Given the description of an element on the screen output the (x, y) to click on. 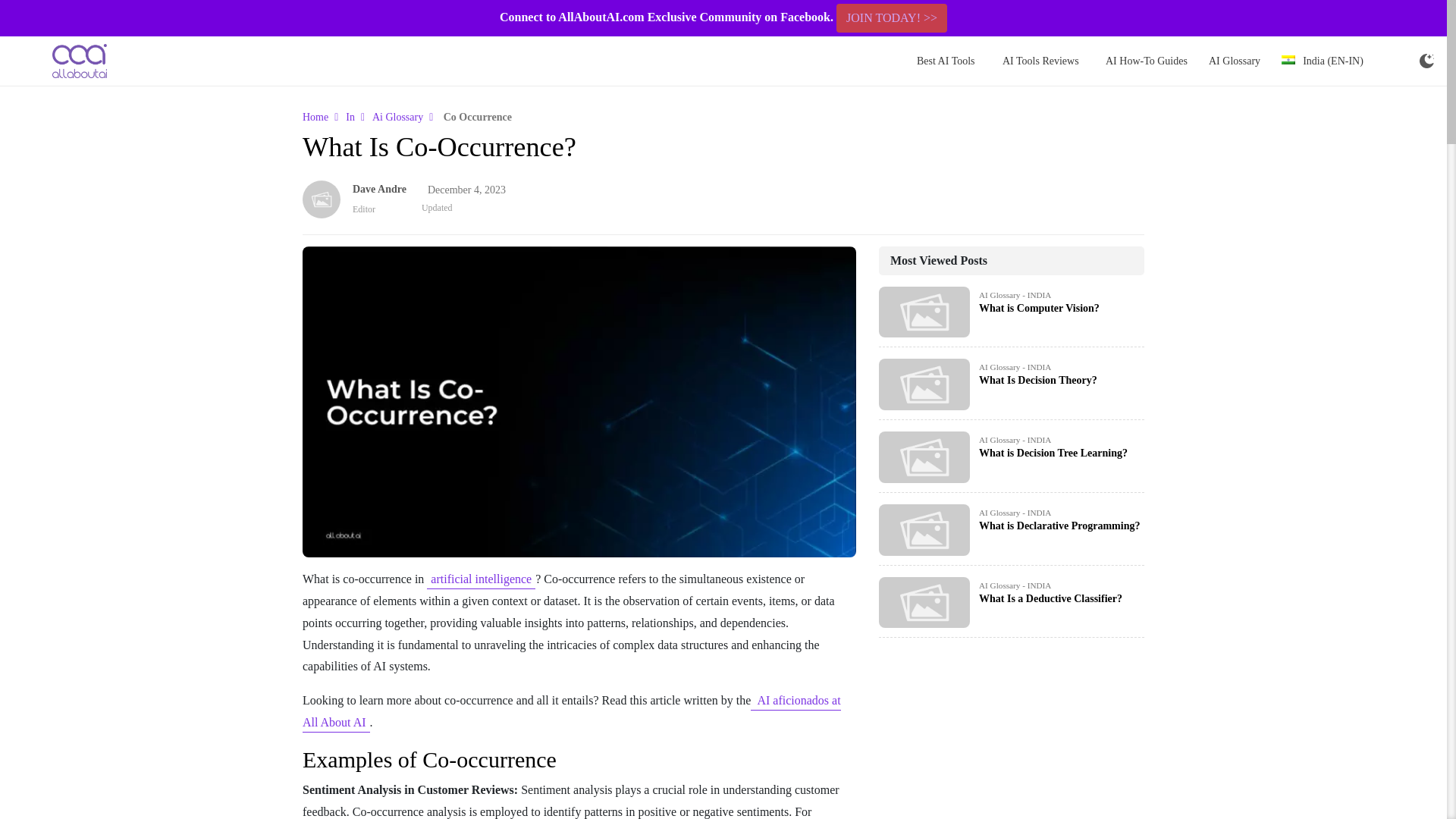
AI How-To Guides (1146, 60)
Ai Glossary (397, 116)
Home (315, 116)
AI Tools Reviews (1040, 60)
Best AI Tools (945, 60)
close (1435, 18)
AI Glossary (1234, 60)
